Given the description of an element on the screen output the (x, y) to click on. 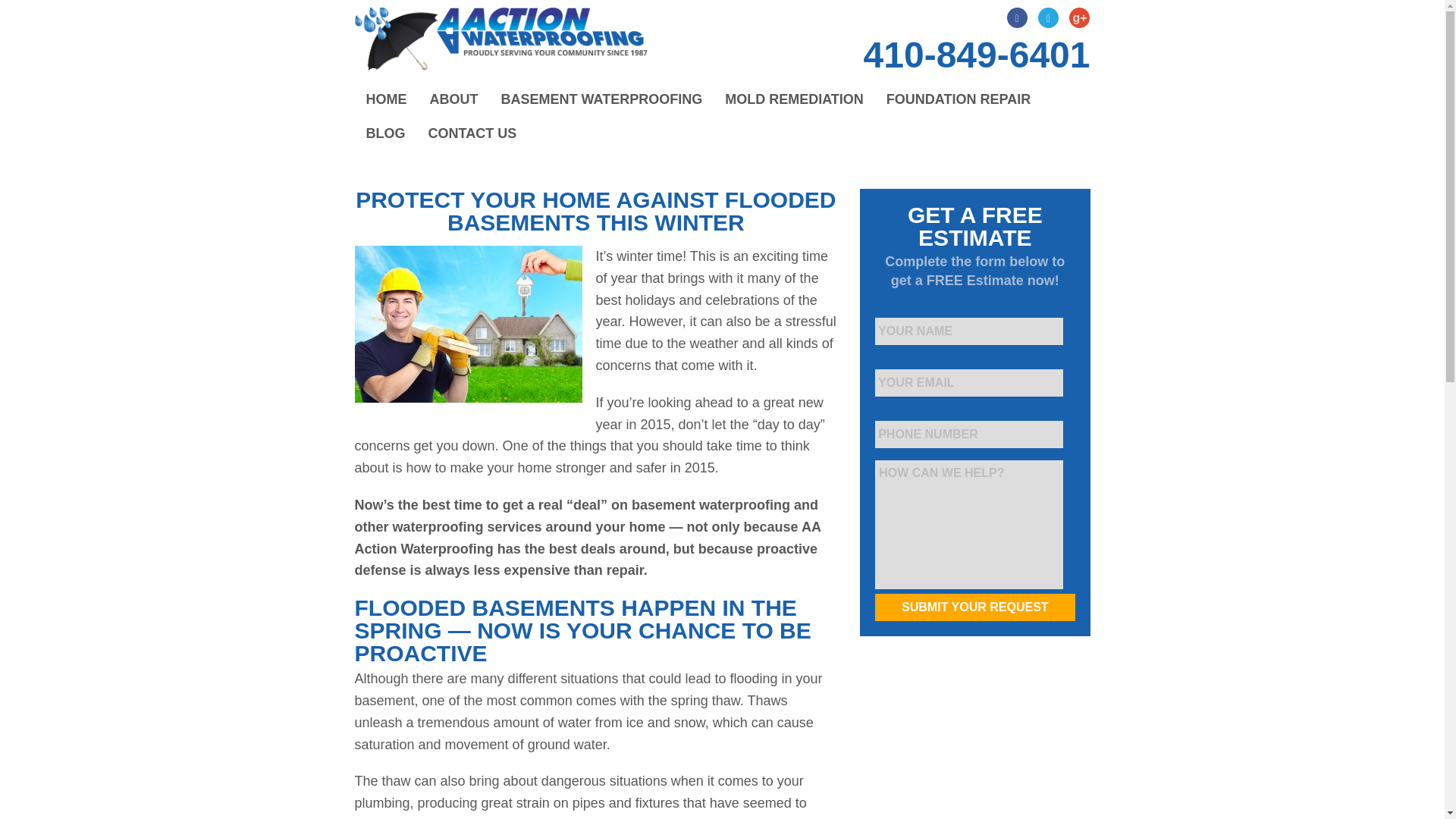
MOLD REMEDIATION (794, 99)
410-849-6401 (976, 55)
Submit your request (974, 606)
Submit your request (974, 606)
CAREER OPPORTUNITIES (530, 167)
Home (387, 99)
About Us (454, 99)
Foundation Repair (958, 99)
Mold Remediation (794, 99)
Basement Waterproofing (601, 99)
ABOUT (454, 99)
OUR MISSION (532, 133)
Contact Us (472, 133)
BASEMENT WATERPROOFING (601, 99)
FOUNDATION REPAIR (958, 99)
